Given the description of an element on the screen output the (x, y) to click on. 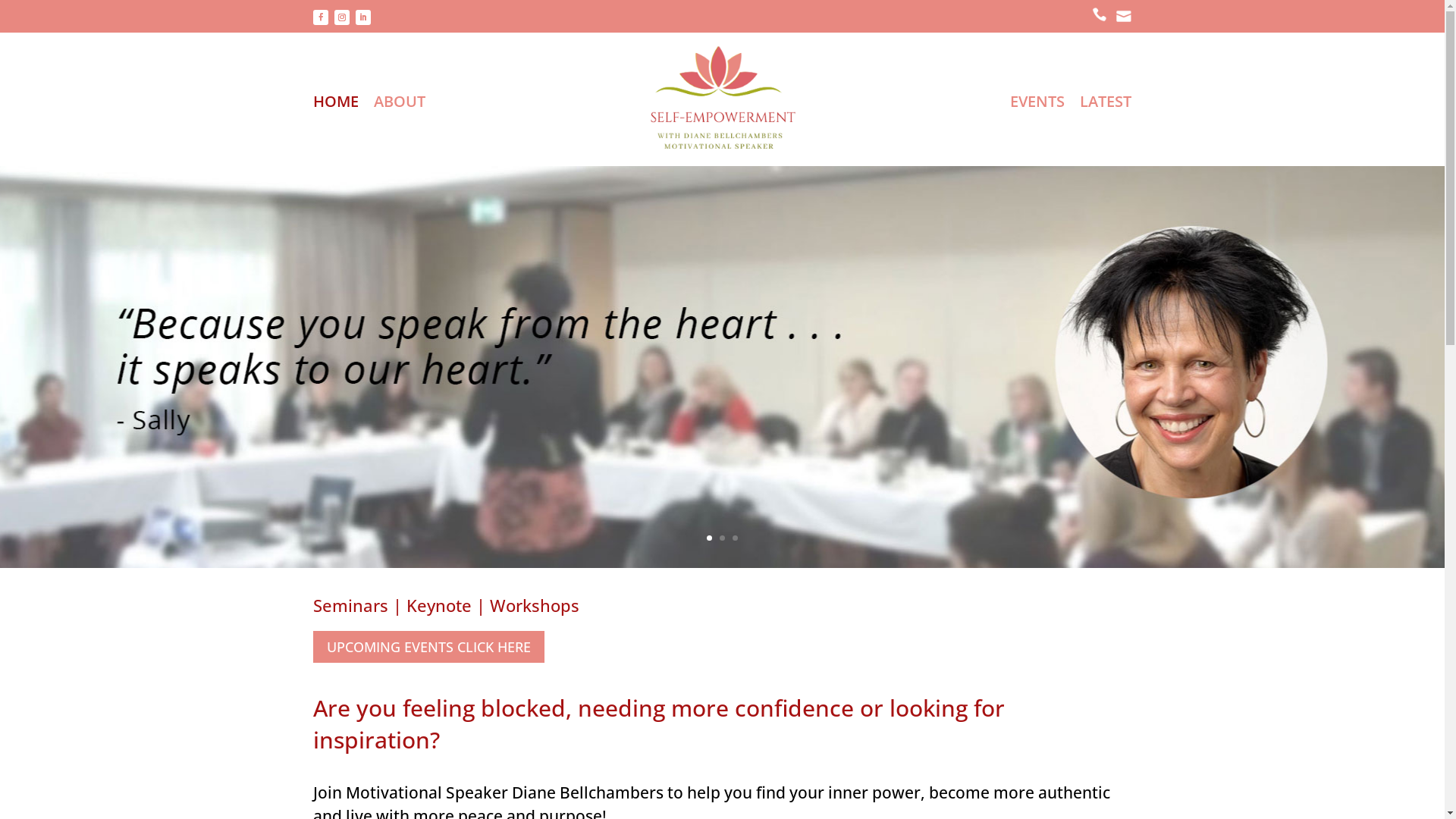
HOME Element type: text (334, 101)
Follow on Instagram Element type: hover (340, 17)
ABOUT Element type: text (398, 101)
diane-bellchambers-speaker-logo Element type: hover (722, 98)
Follow on LinkedIn Element type: hover (362, 17)
Follow on Facebook Element type: hover (319, 17)
EVENTS Element type: text (1037, 101)
2 Element type: text (721, 537)
1 Element type: text (709, 537)
LATEST Element type: text (1105, 101)
3 Element type: text (734, 537)
UPCOMING EVENTS CLICK HERE Element type: text (427, 646)
